Given the description of an element on the screen output the (x, y) to click on. 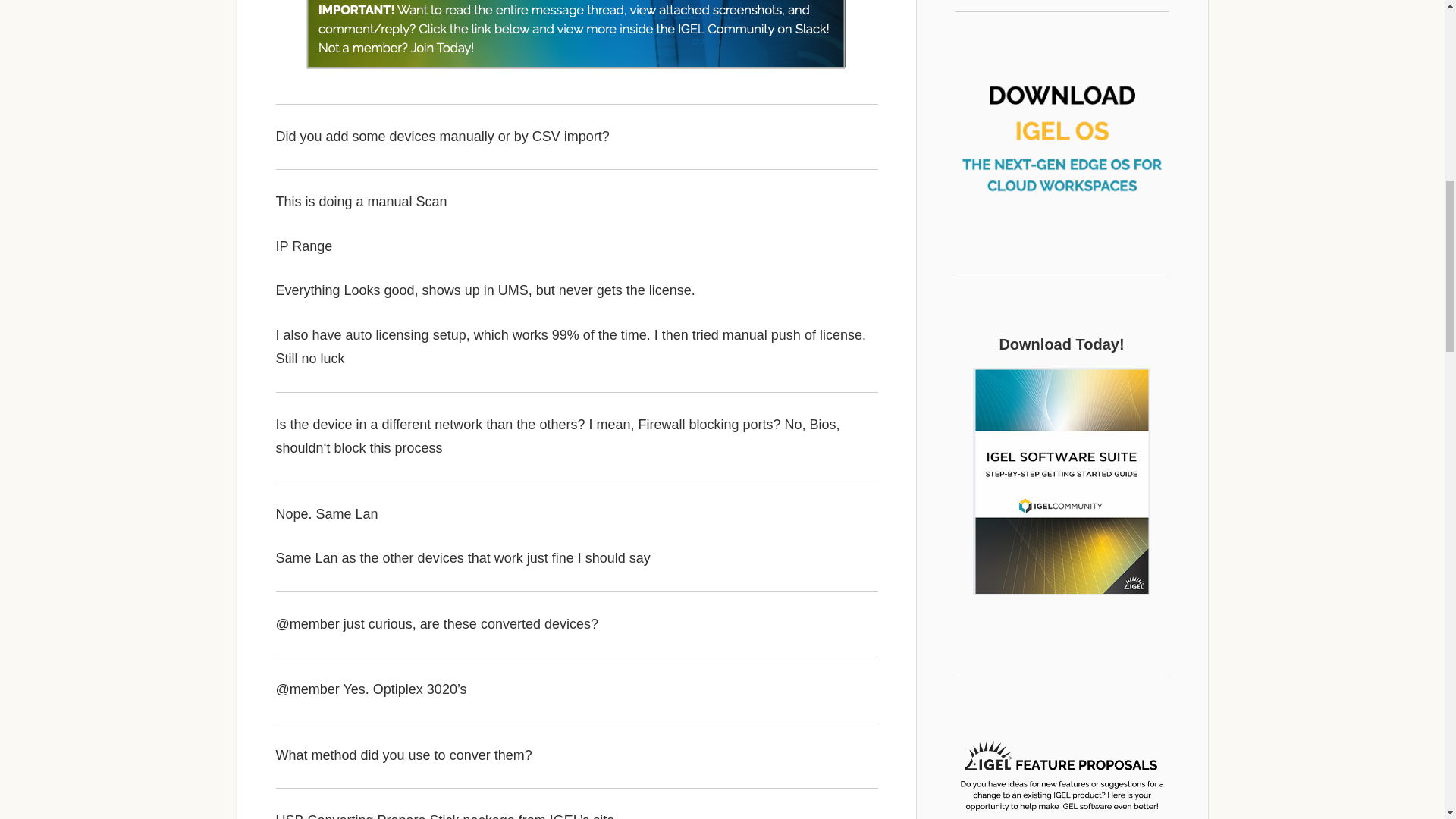
Download IGEL OS (1062, 131)
Download Today! (1062, 481)
